Given the description of an element on the screen output the (x, y) to click on. 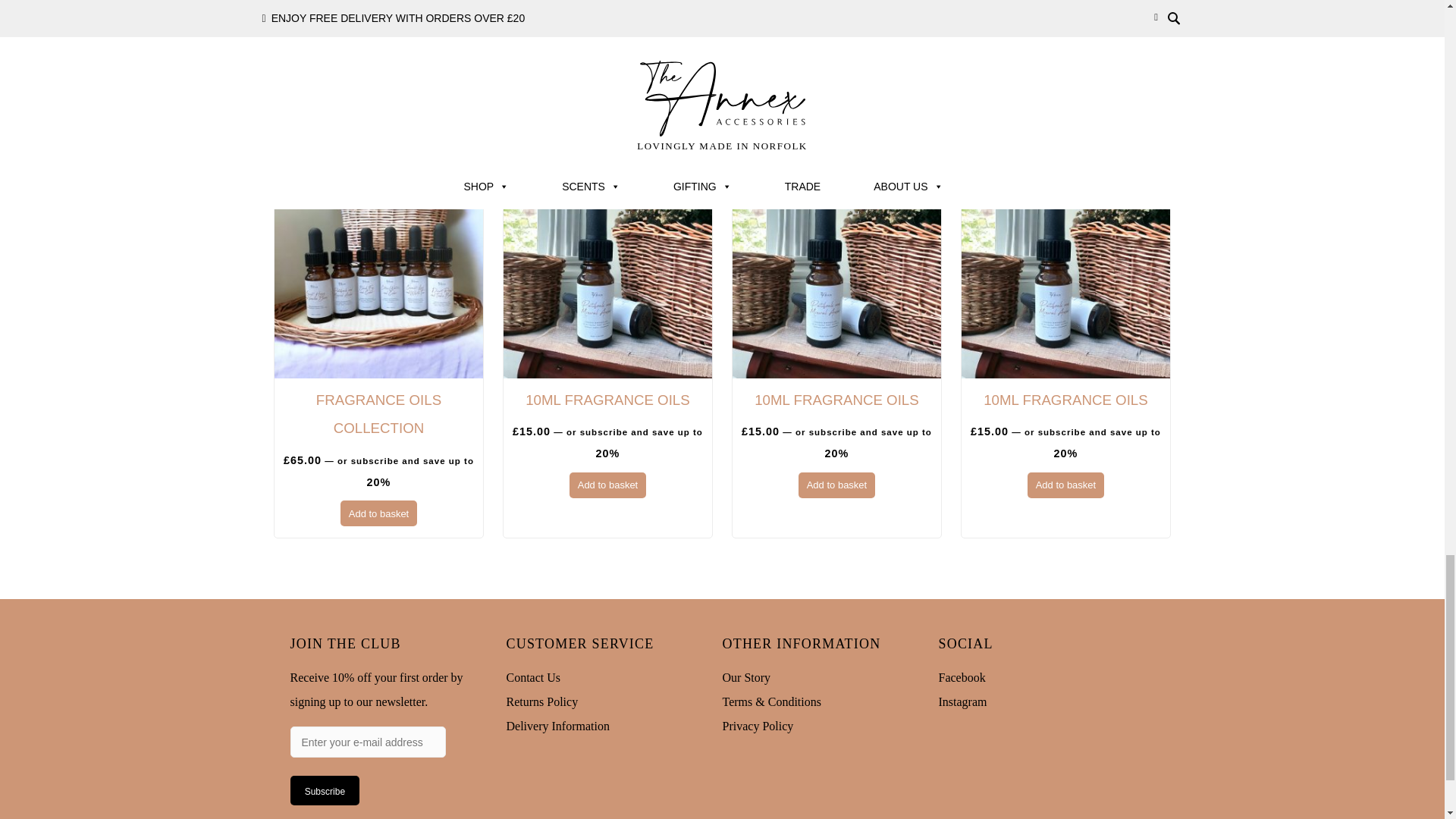
Subscribe (324, 789)
Submit (311, 34)
